Given the description of an element on the screen output the (x, y) to click on. 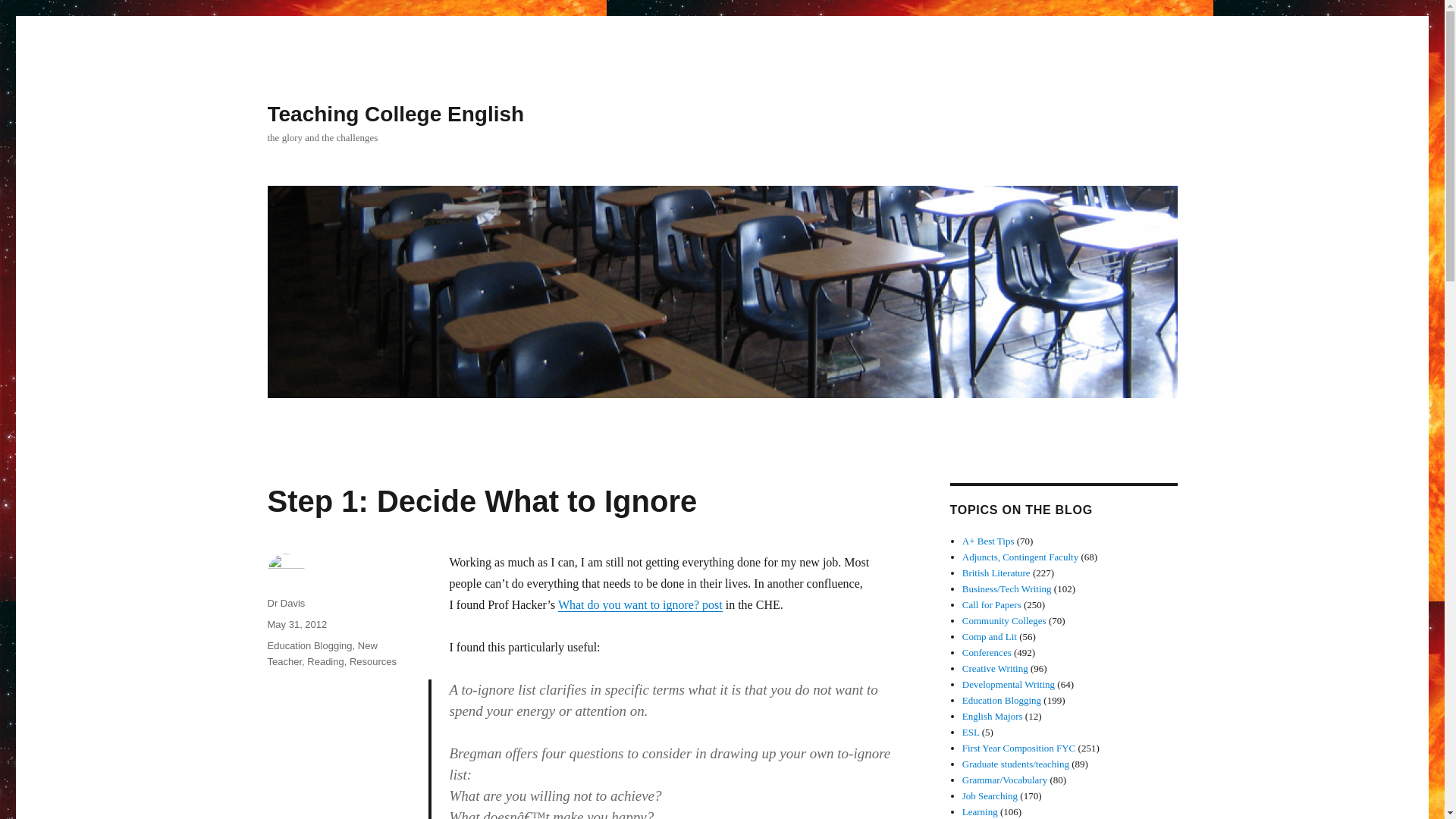
First Year Composition FYC (1018, 747)
Call for Papers (992, 604)
Education Blogging (309, 645)
Education Blogging (1001, 699)
Learning (979, 811)
Adjuncts, Contingent Faculty (1020, 556)
May 31, 2012 (296, 624)
English Majors (992, 715)
Community Colleges (1004, 620)
Conferences (986, 652)
Teaching College English (395, 114)
What do you want to ignore? post (639, 604)
Resources (372, 661)
Job Searching (989, 795)
ESL (970, 731)
